Given the description of an element on the screen output the (x, y) to click on. 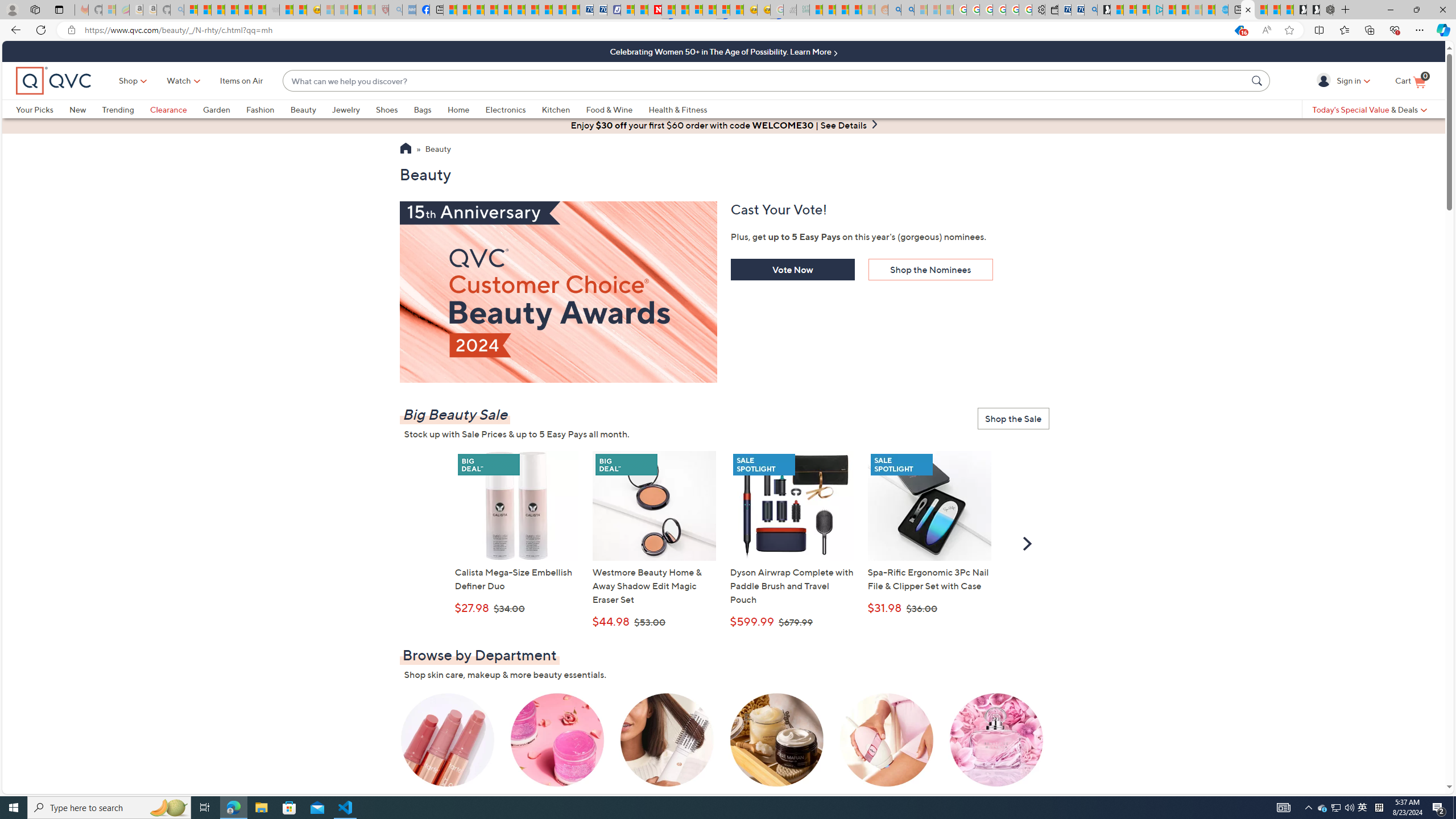
Food & Wine (617, 109)
Food & Wine (609, 109)
Shoes (386, 109)
Beauty (302, 109)
Shoes (394, 109)
World - MSN (477, 9)
Your Picks (34, 109)
